Given the description of an element on the screen output the (x, y) to click on. 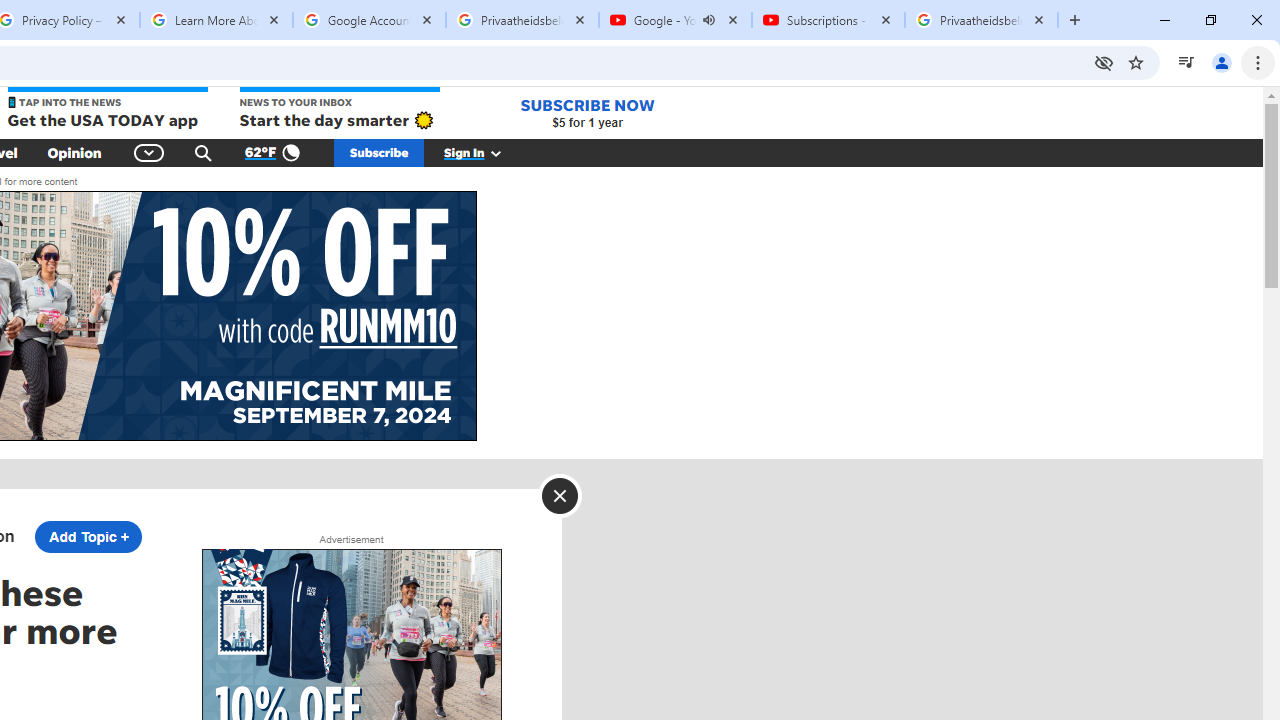
Google Account (369, 20)
Minimize (1165, 20)
Close (559, 495)
Chrome (1260, 62)
Mute tab (708, 20)
Restore (1210, 20)
Control your music, videos, and more (1185, 62)
Subscribe (379, 152)
Add Topic (88, 536)
